Given the description of an element on the screen output the (x, y) to click on. 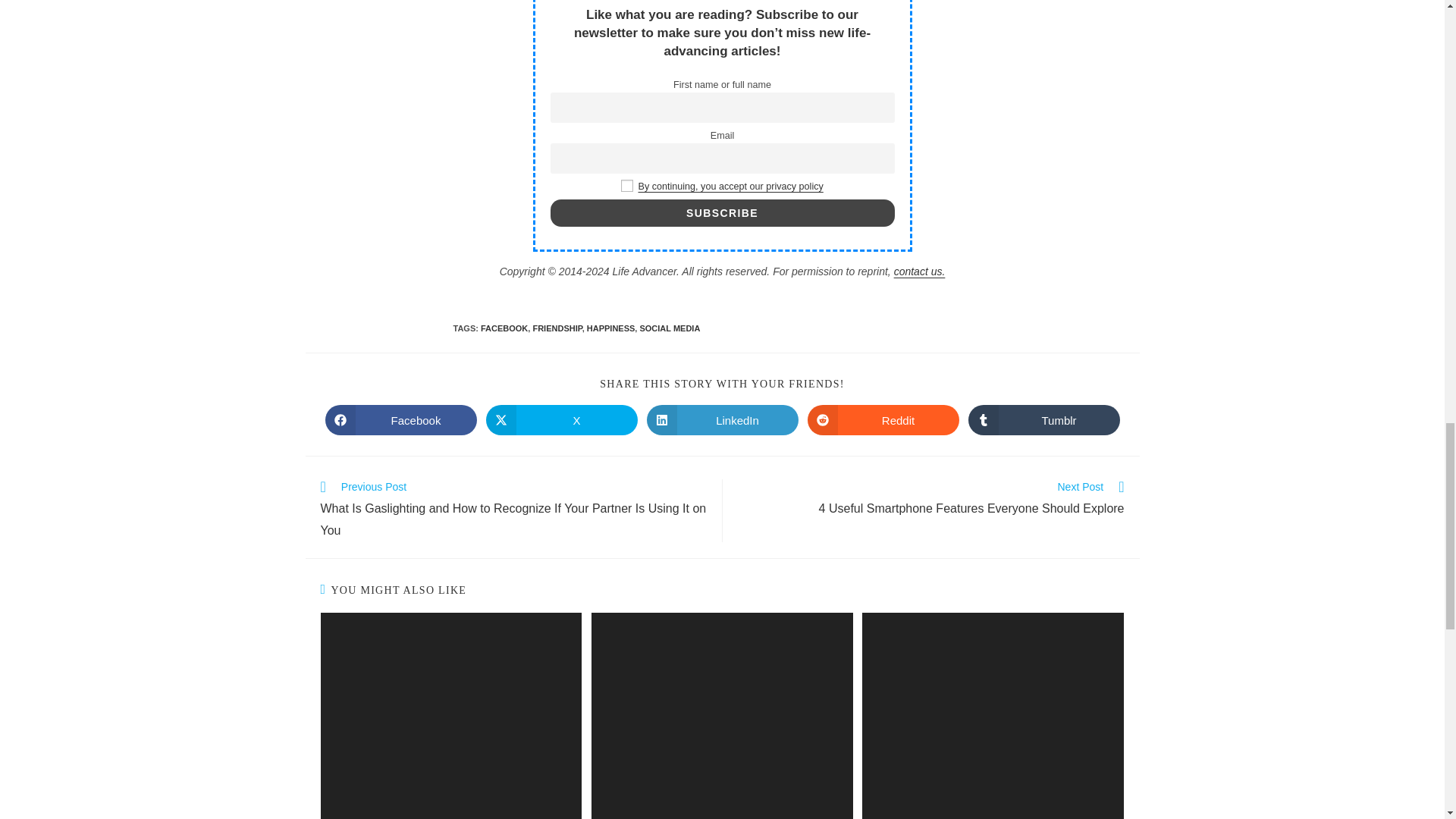
contact us (918, 271)
Subscribe (722, 212)
on (627, 185)
blog policy (729, 185)
